Given the description of an element on the screen output the (x, y) to click on. 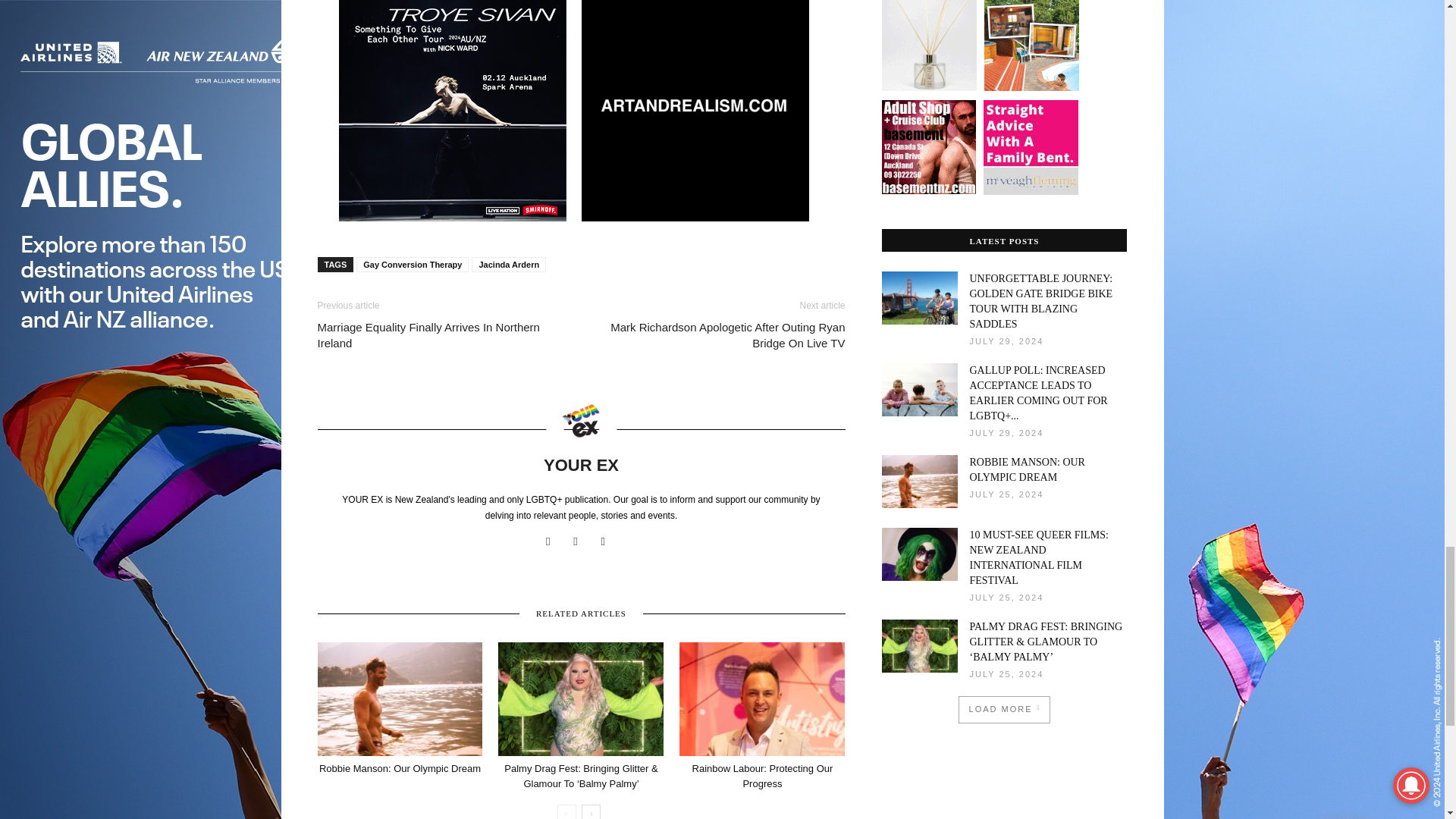
Facebook (553, 541)
Instagram (581, 541)
